Given the description of an element on the screen output the (x, y) to click on. 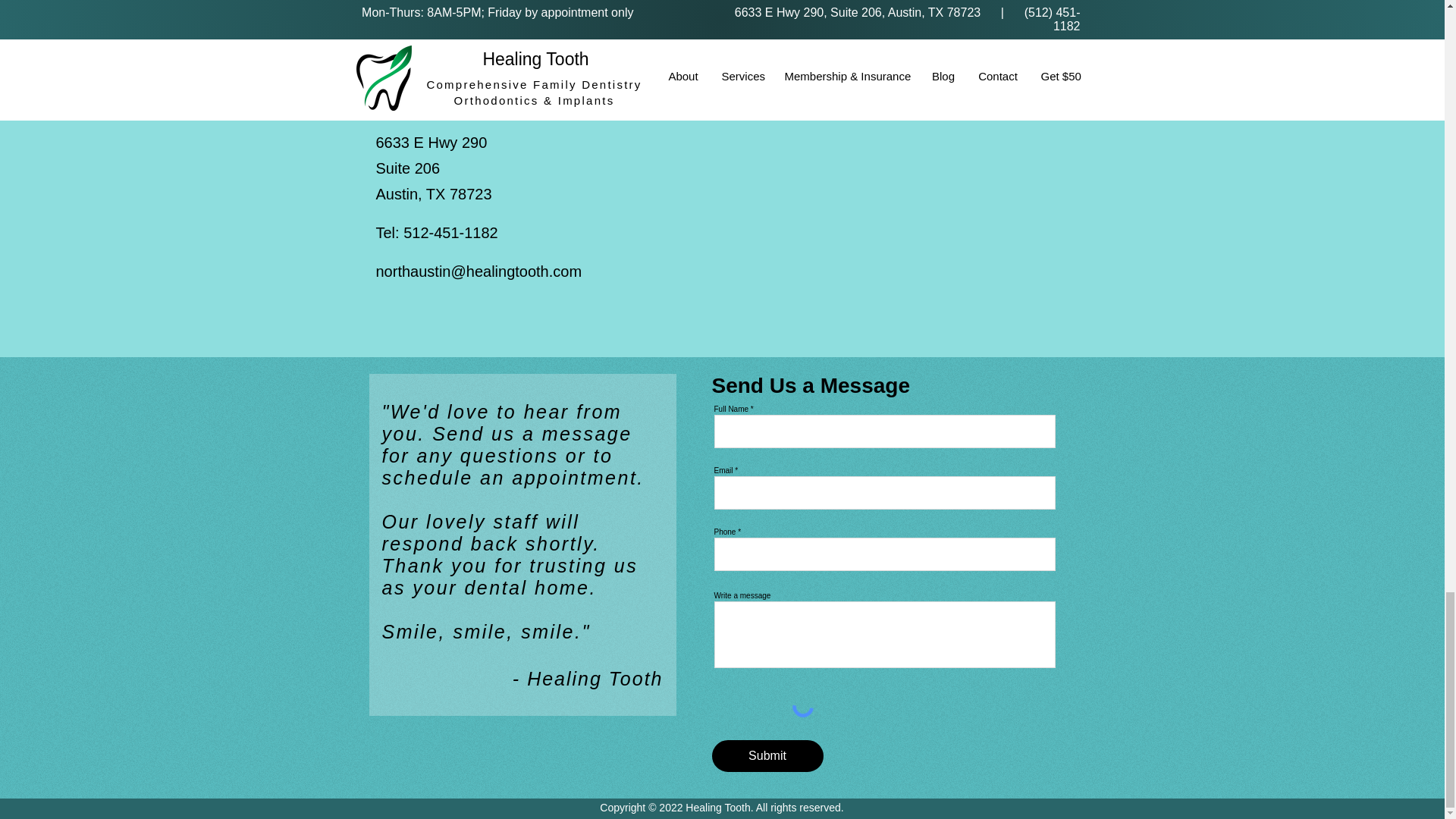
Post not marked as liked (558, 6)
Post not marked as liked (1046, 6)
Submit (804, 6)
512-451-1182 (766, 756)
